Given the description of an element on the screen output the (x, y) to click on. 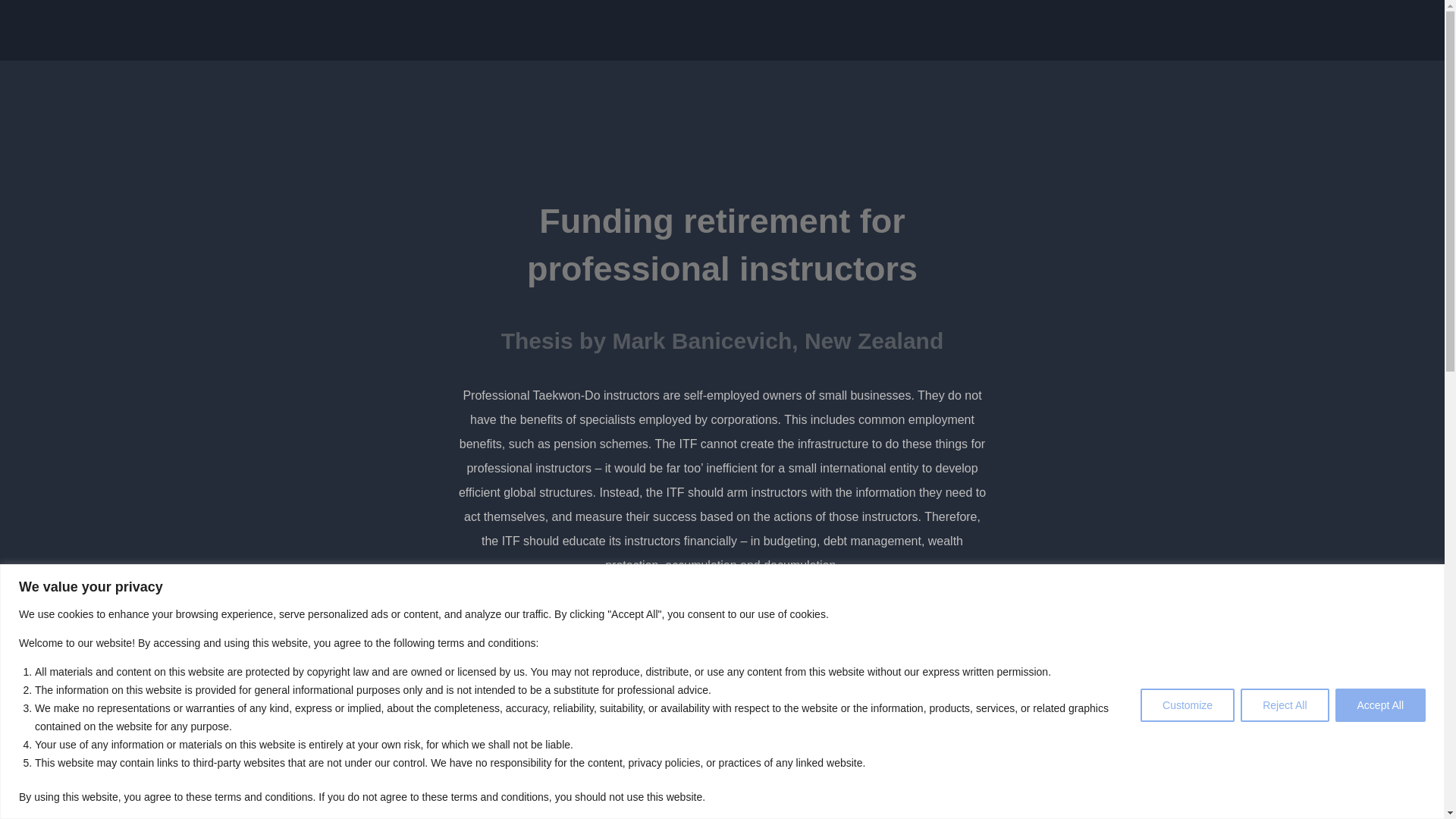
READ MORE (722, 619)
Reject All (1283, 704)
Customize (1187, 704)
Accept All (1380, 704)
Thesis by Mark Banicevich, New Zealand (721, 339)
Funding retirement for professional instructors (722, 244)
